Given the description of an element on the screen output the (x, y) to click on. 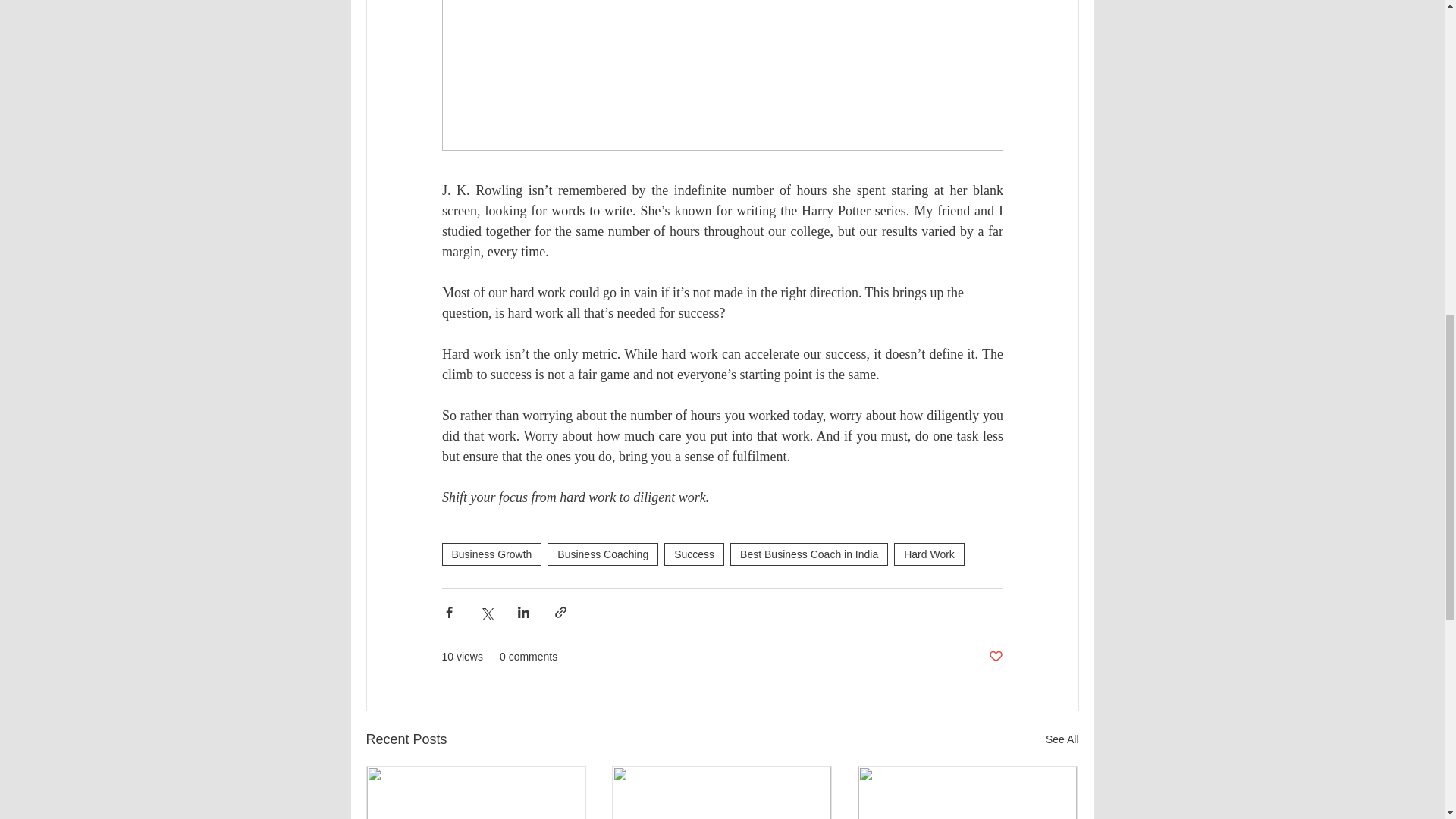
Success (693, 553)
See All (1061, 739)
Best Business Coach in India (809, 553)
Business Coaching (602, 553)
Post not marked as liked (995, 657)
Business Growth (491, 553)
Hard Work (928, 553)
